Given the description of an element on the screen output the (x, y) to click on. 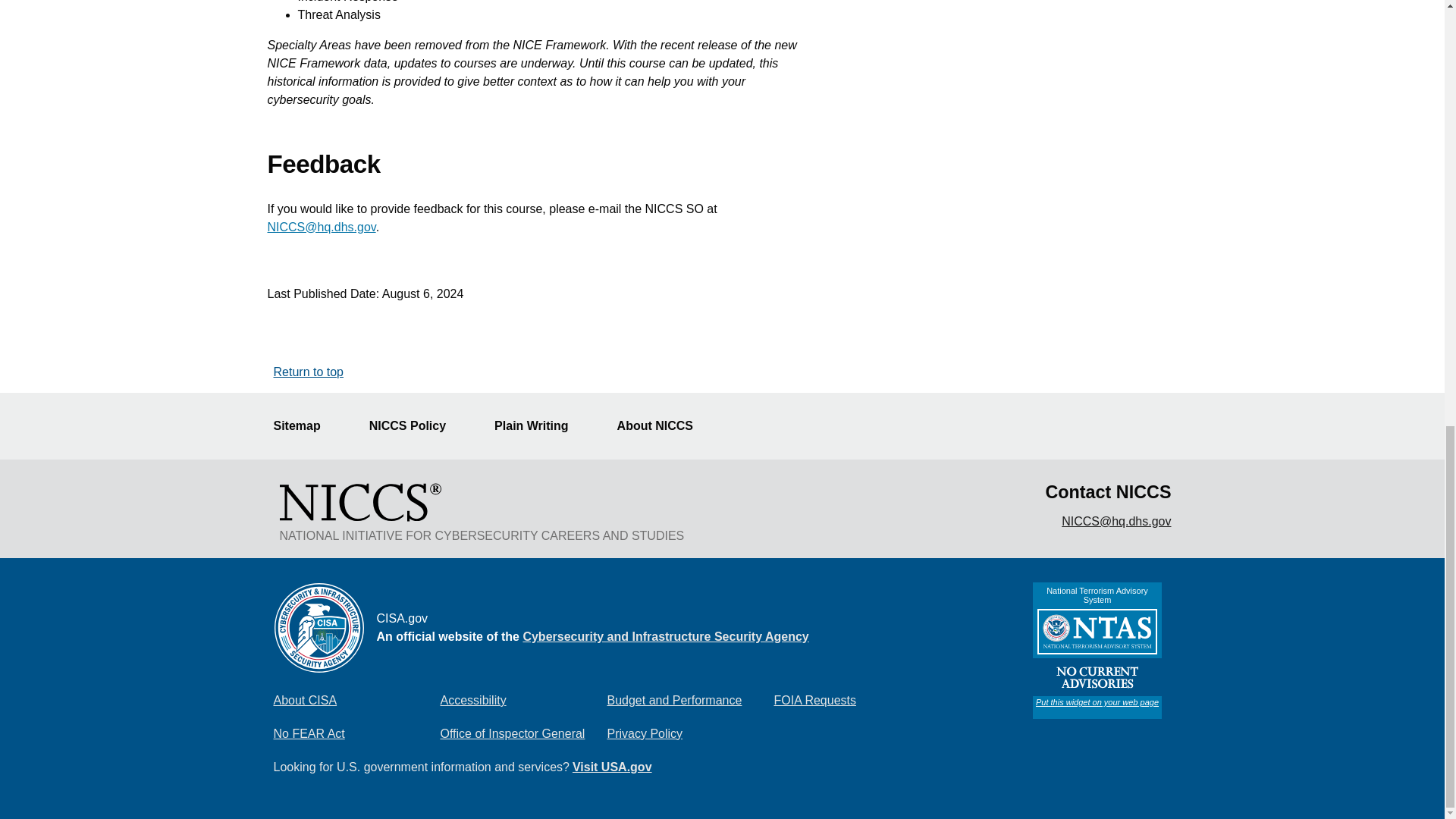
Cybersecurity and Infrastructure Security Agency (665, 635)
No FEAR Act (356, 734)
Office of Inspector General (523, 734)
National Terrorism Advisory System (1096, 650)
Return to top (308, 371)
Visit the USA.gov website (612, 767)
National Initiative for Cybersecurity Careers and Studies (360, 502)
About NICCS (664, 426)
Plain Writing (540, 426)
NICCS Policy (416, 426)
